Given the description of an element on the screen output the (x, y) to click on. 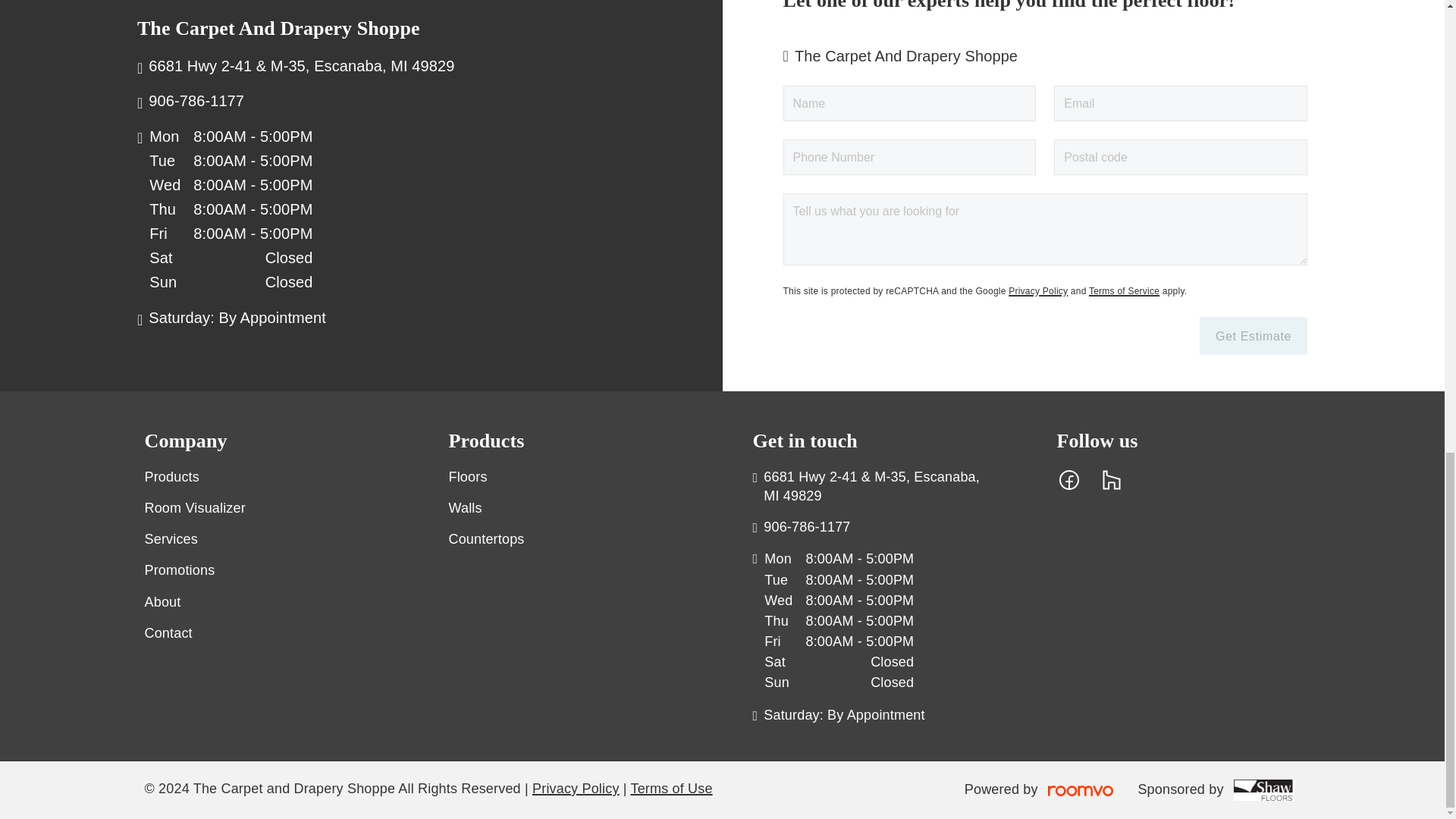
The Carpet and Drapery Shoppe on Facebook (1069, 478)
The Carpet and Drapery Shoppe on Houzz (1111, 478)
